Given the description of an element on the screen output the (x, y) to click on. 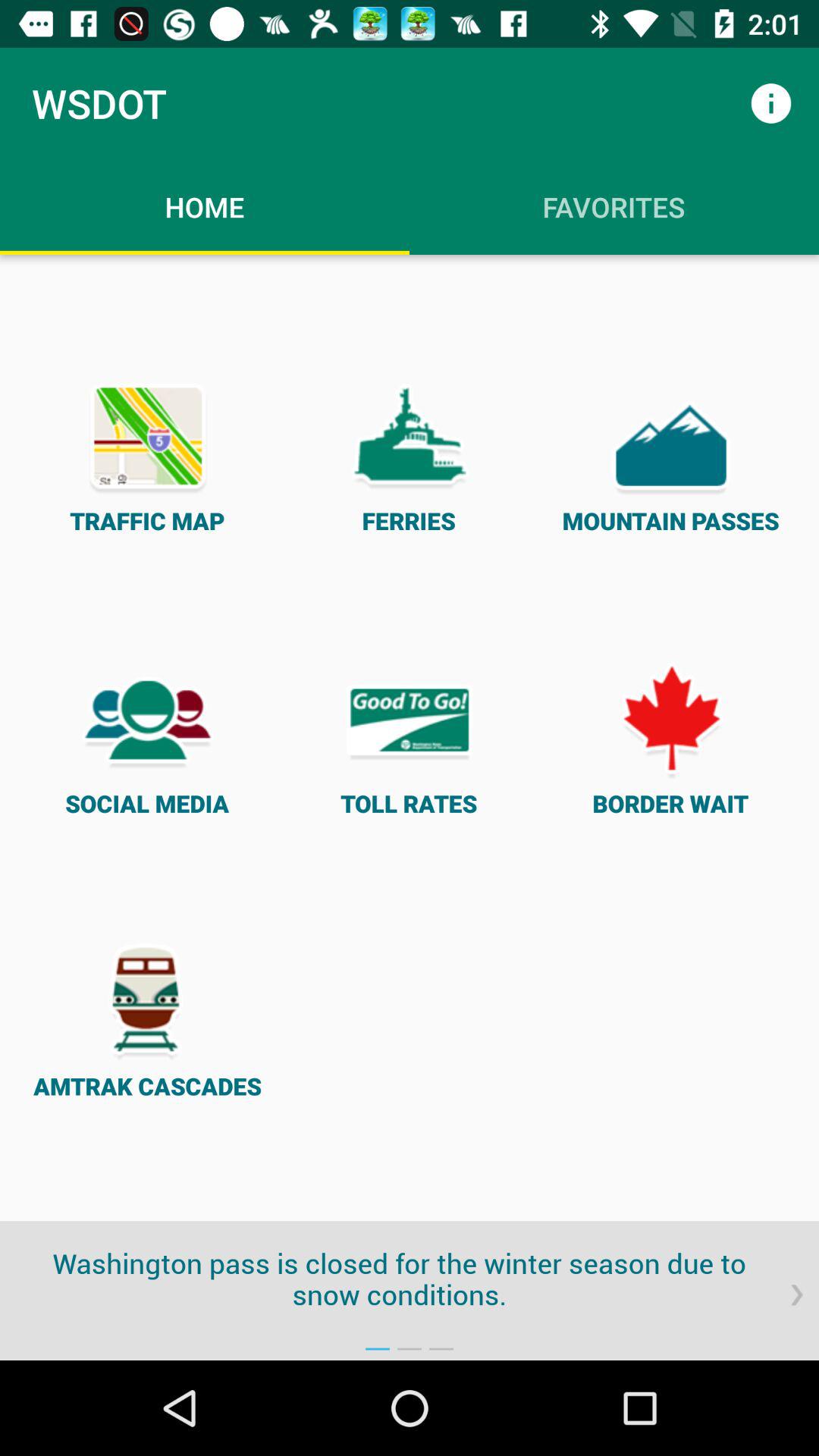
press the icon above the washington pass is icon (409, 737)
